Given the description of an element on the screen output the (x, y) to click on. 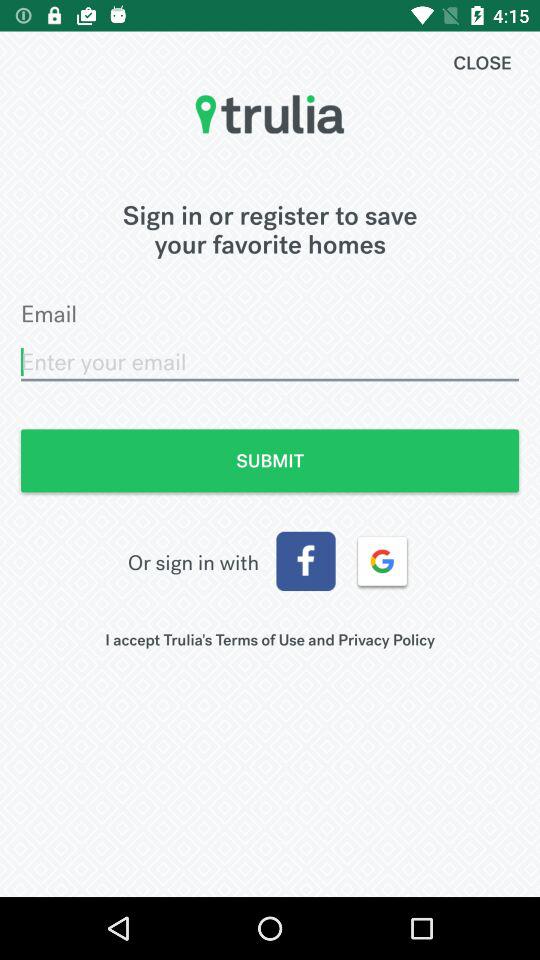
click item below email (269, 362)
